Given the description of an element on the screen output the (x, y) to click on. 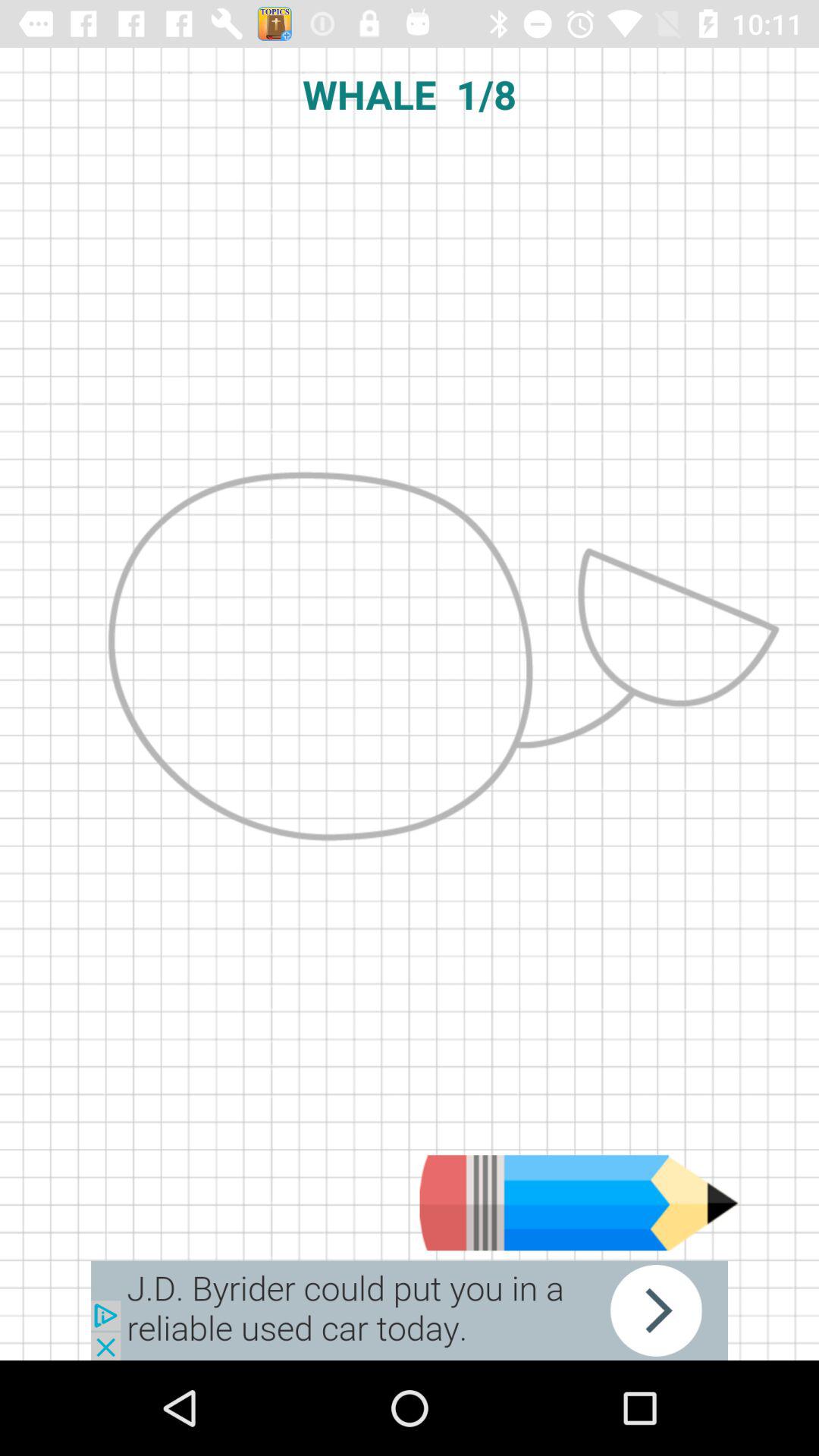
raiting button (578, 1202)
